Given the description of an element on the screen output the (x, y) to click on. 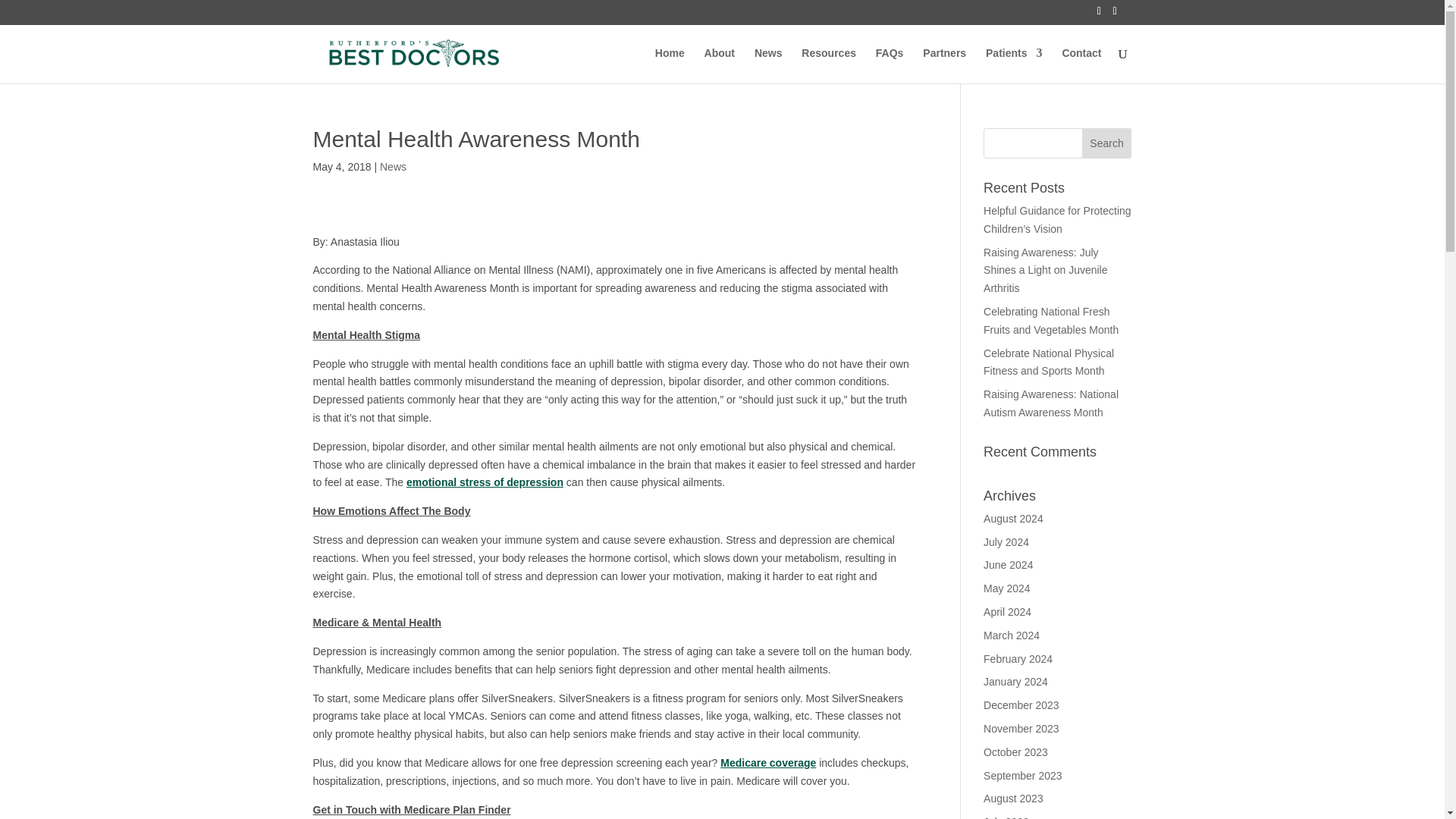
News (393, 166)
Celebrating National Fresh Fruits and Vegetables Month (1051, 320)
Search (1106, 142)
Raising Awareness: July Shines a Light on Juvenile Arthritis (1045, 270)
December 2023 (1021, 705)
Partners (944, 65)
November 2023 (1021, 728)
October 2023 (1016, 752)
May 2024 (1006, 588)
April 2024 (1007, 612)
